Given the description of an element on the screen output the (x, y) to click on. 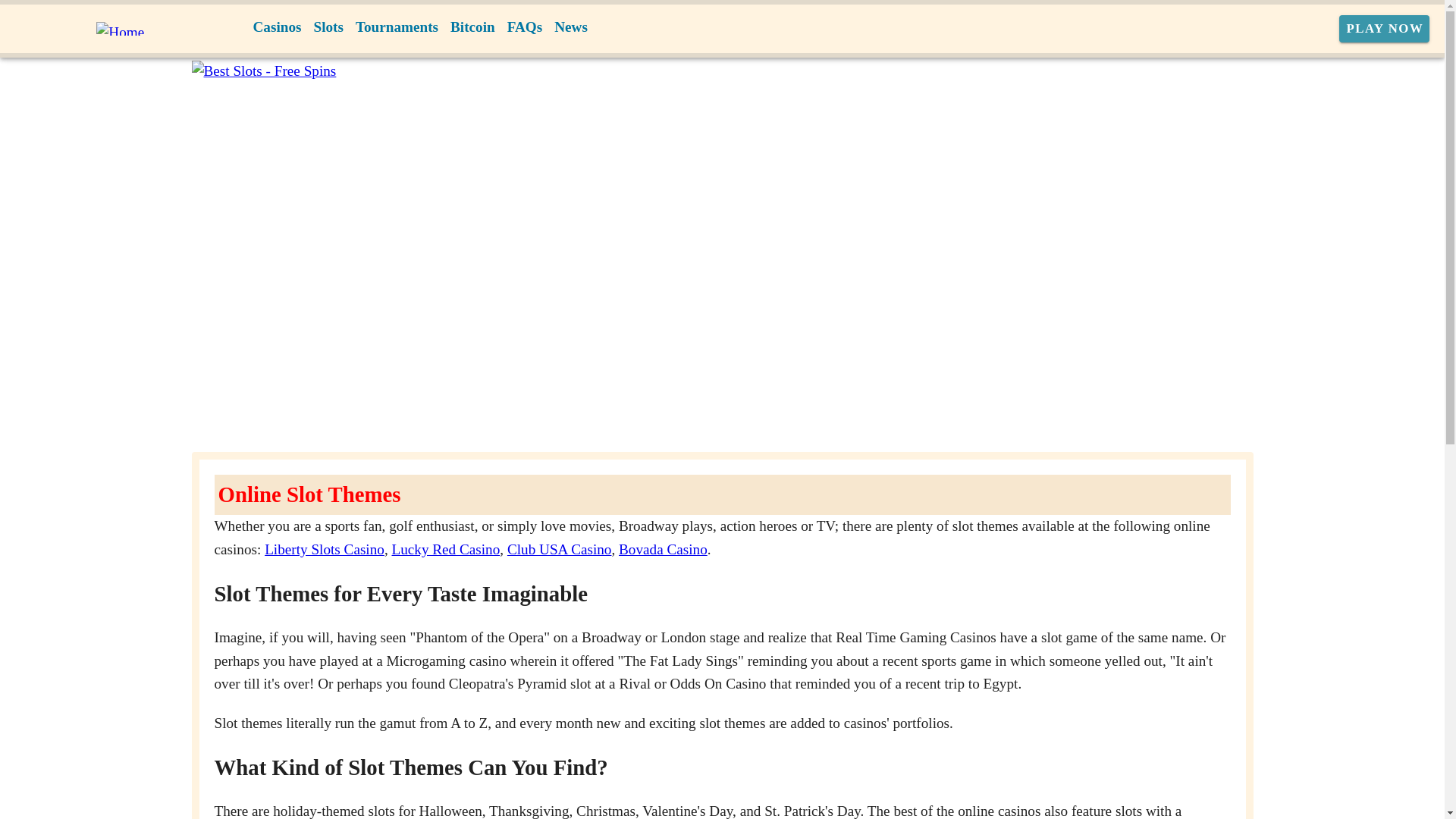
Lucky Red Casino (445, 549)
Bitcoin (472, 27)
News (571, 27)
Club USA Casino (558, 549)
Bovada Casino (662, 549)
PLAY NOW (1384, 28)
FAQs (524, 27)
Liberty Slots Casino (324, 549)
Slots (328, 27)
Tournaments (396, 27)
